Given the description of an element on the screen output the (x, y) to click on. 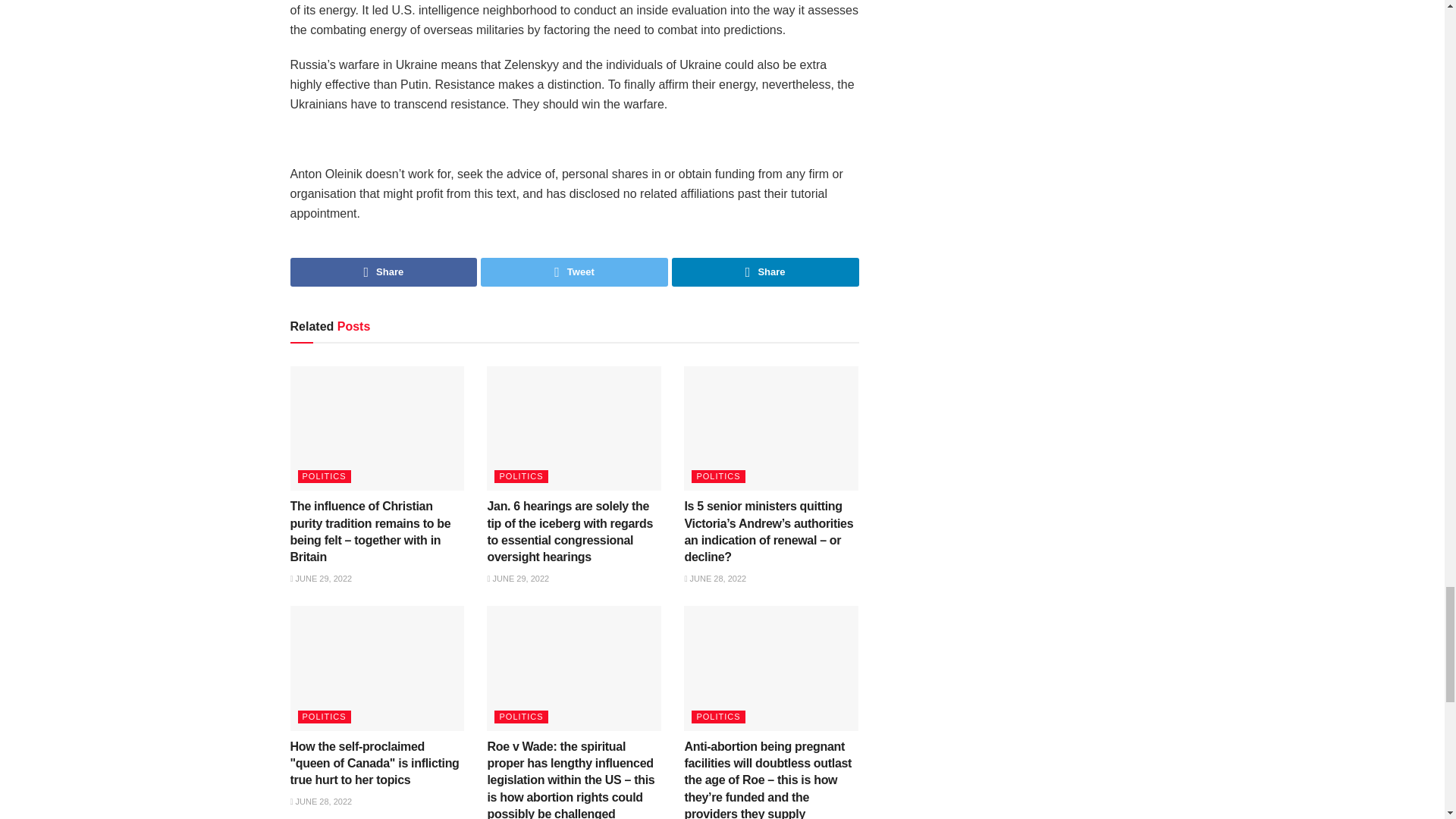
JUNE 29, 2022 (320, 578)
JUNE 28, 2022 (714, 578)
JUNE 29, 2022 (517, 578)
POLITICS (521, 476)
JUNE 28, 2022 (320, 800)
Tweet (574, 271)
POLITICS (323, 476)
POLITICS (521, 716)
POLITICS (323, 716)
Share (383, 271)
